Given the description of an element on the screen output the (x, y) to click on. 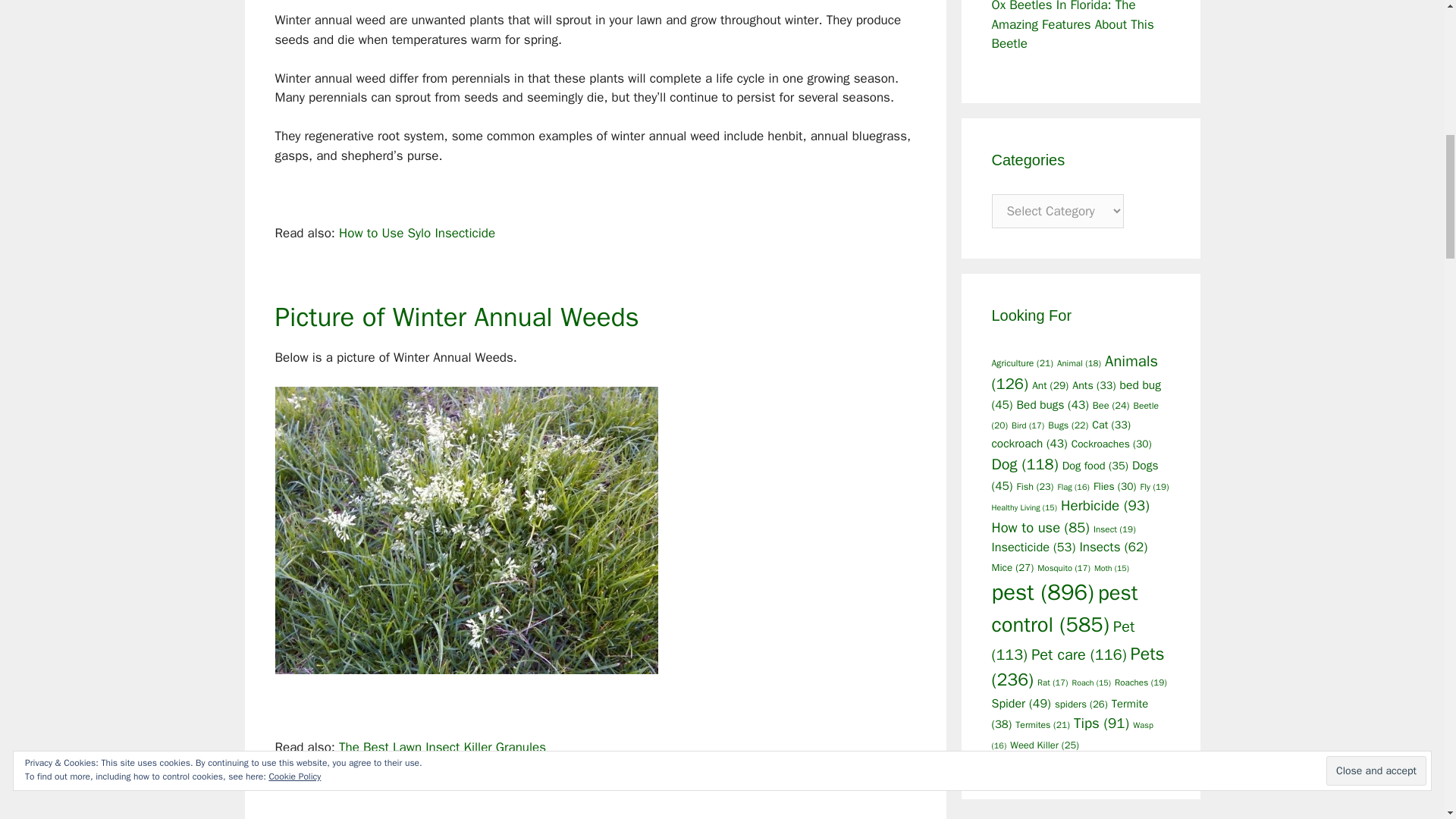
Winter Annual Weeds: Treatment And Prevention 1 (466, 530)
